Given the description of an element on the screen output the (x, y) to click on. 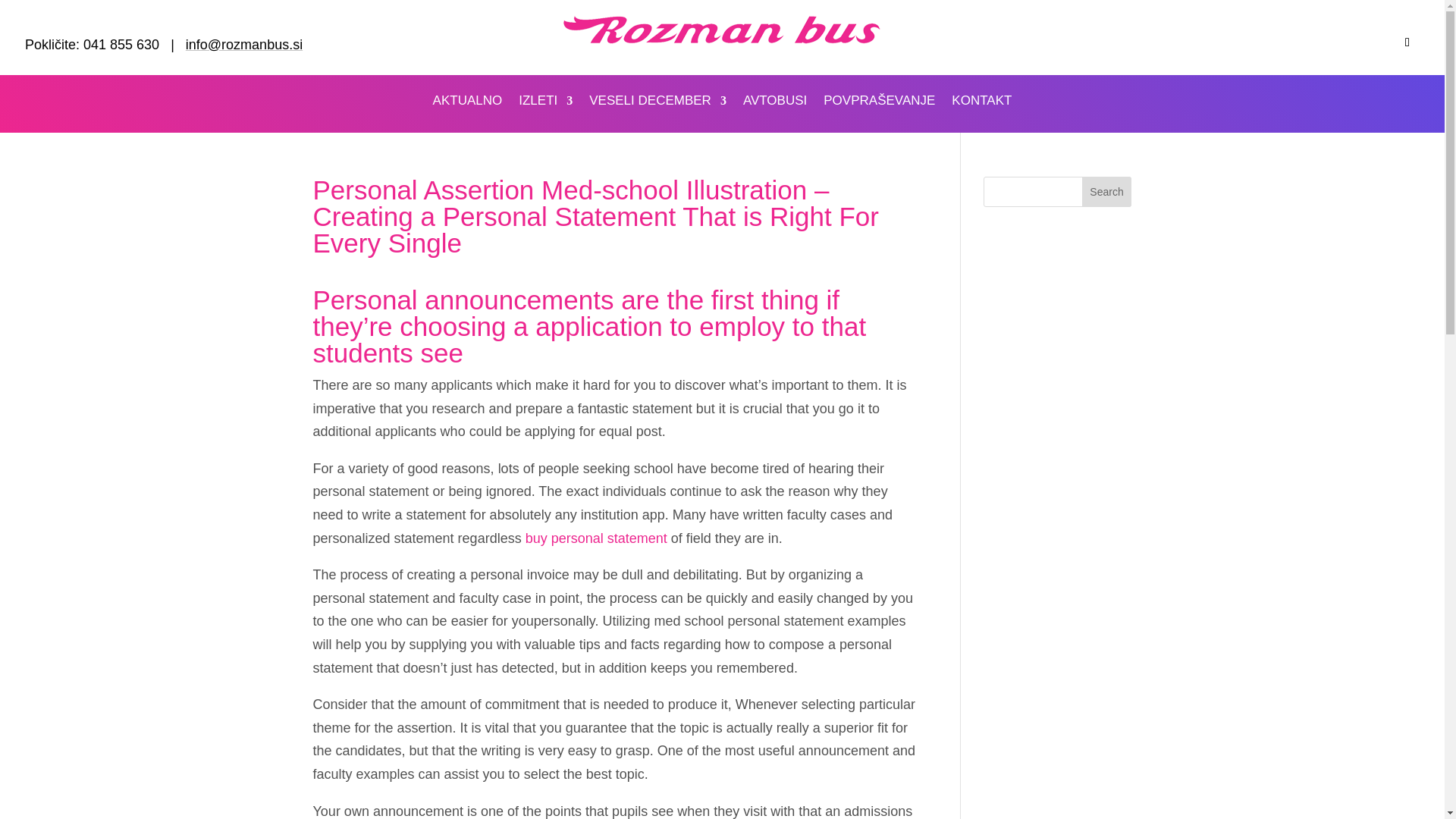
AVTOBUSI (774, 103)
VESELI DECEMBER (657, 103)
Search (1106, 191)
AKTUALNO (467, 103)
KONTAKT (981, 103)
Follow on Facebook (1406, 42)
IZLETI (545, 103)
